Given the description of an element on the screen output the (x, y) to click on. 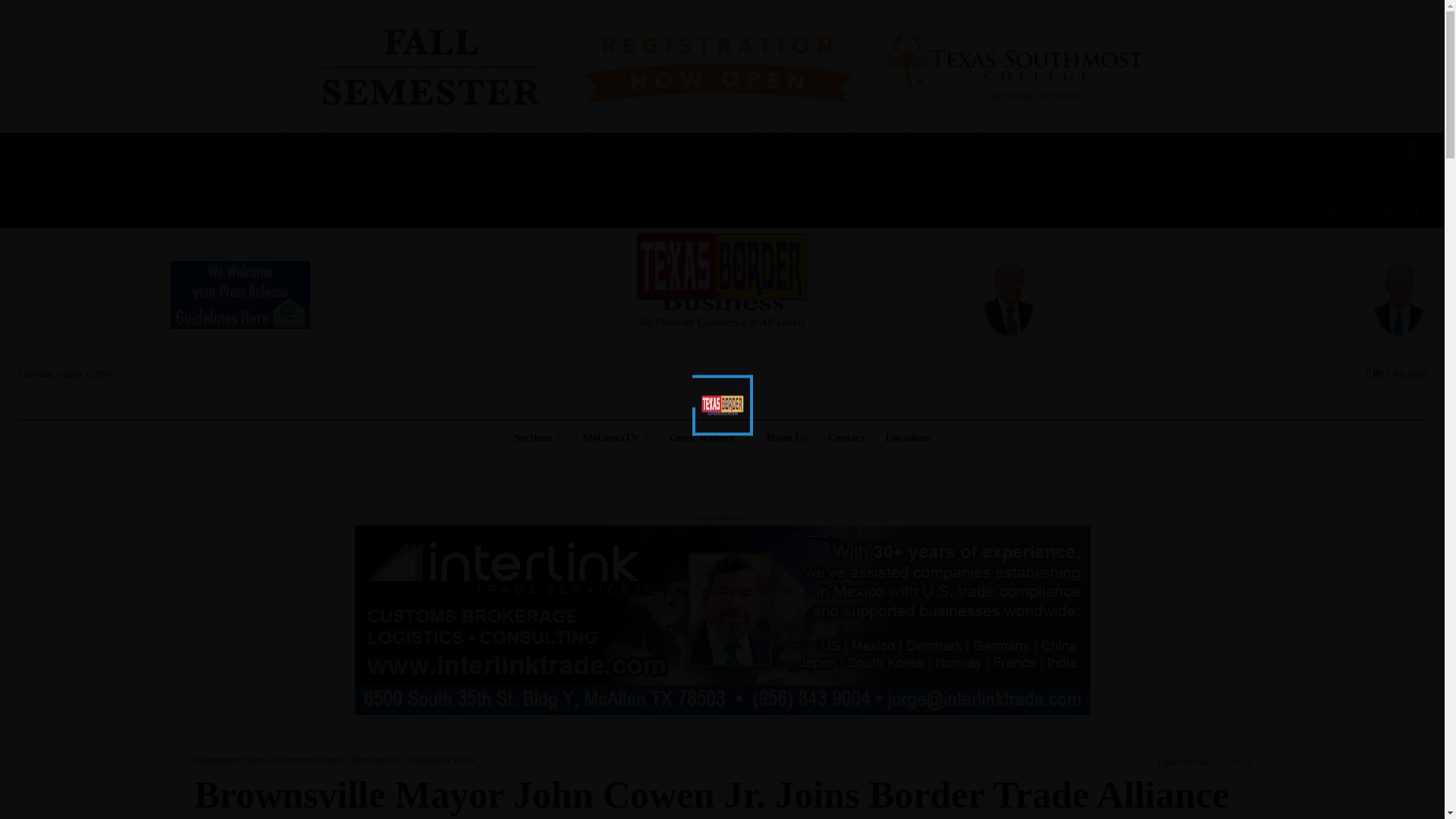
Search (34, 12)
